Given the description of an element on the screen output the (x, y) to click on. 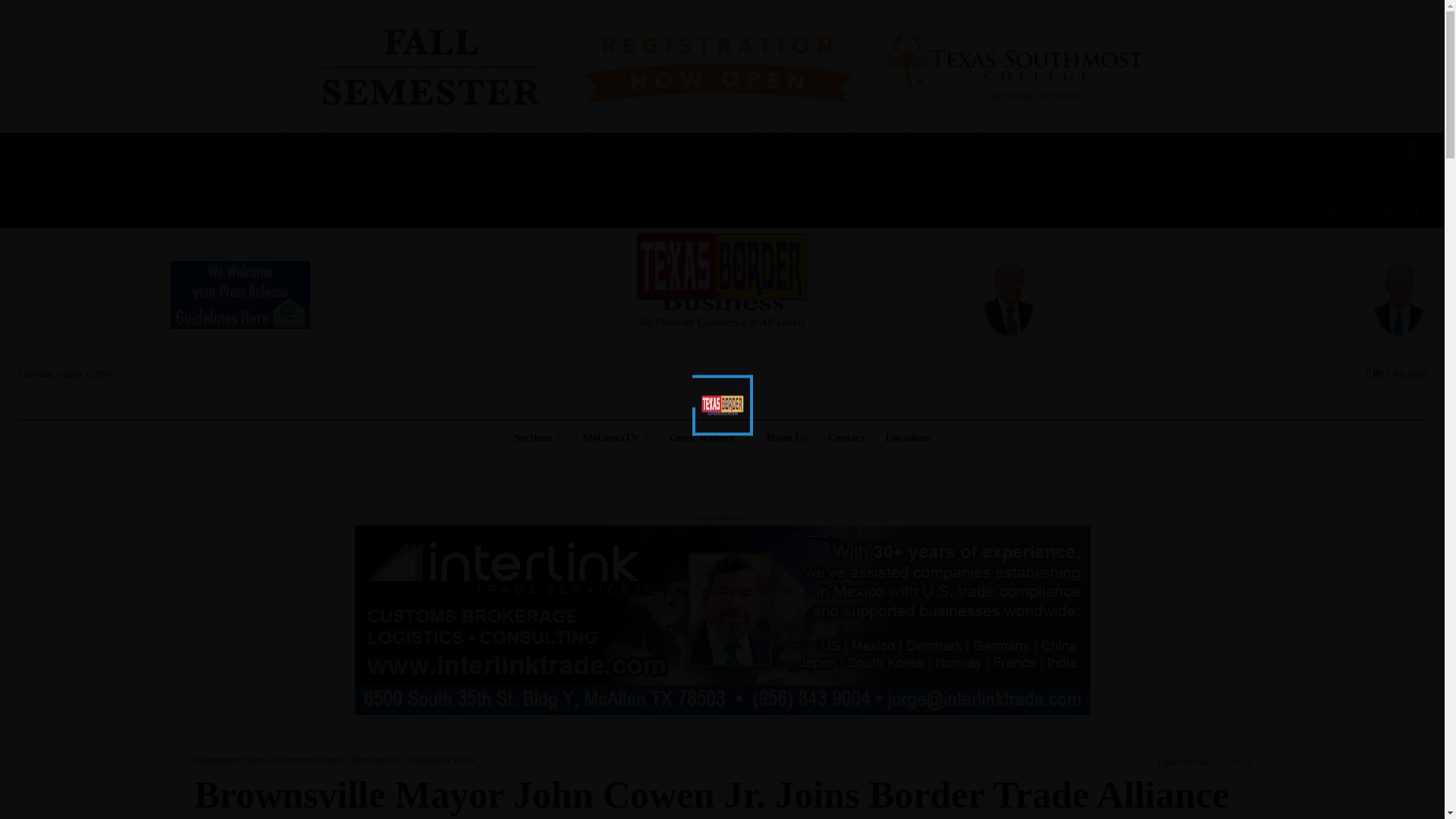
Search (34, 12)
